Given the description of an element on the screen output the (x, y) to click on. 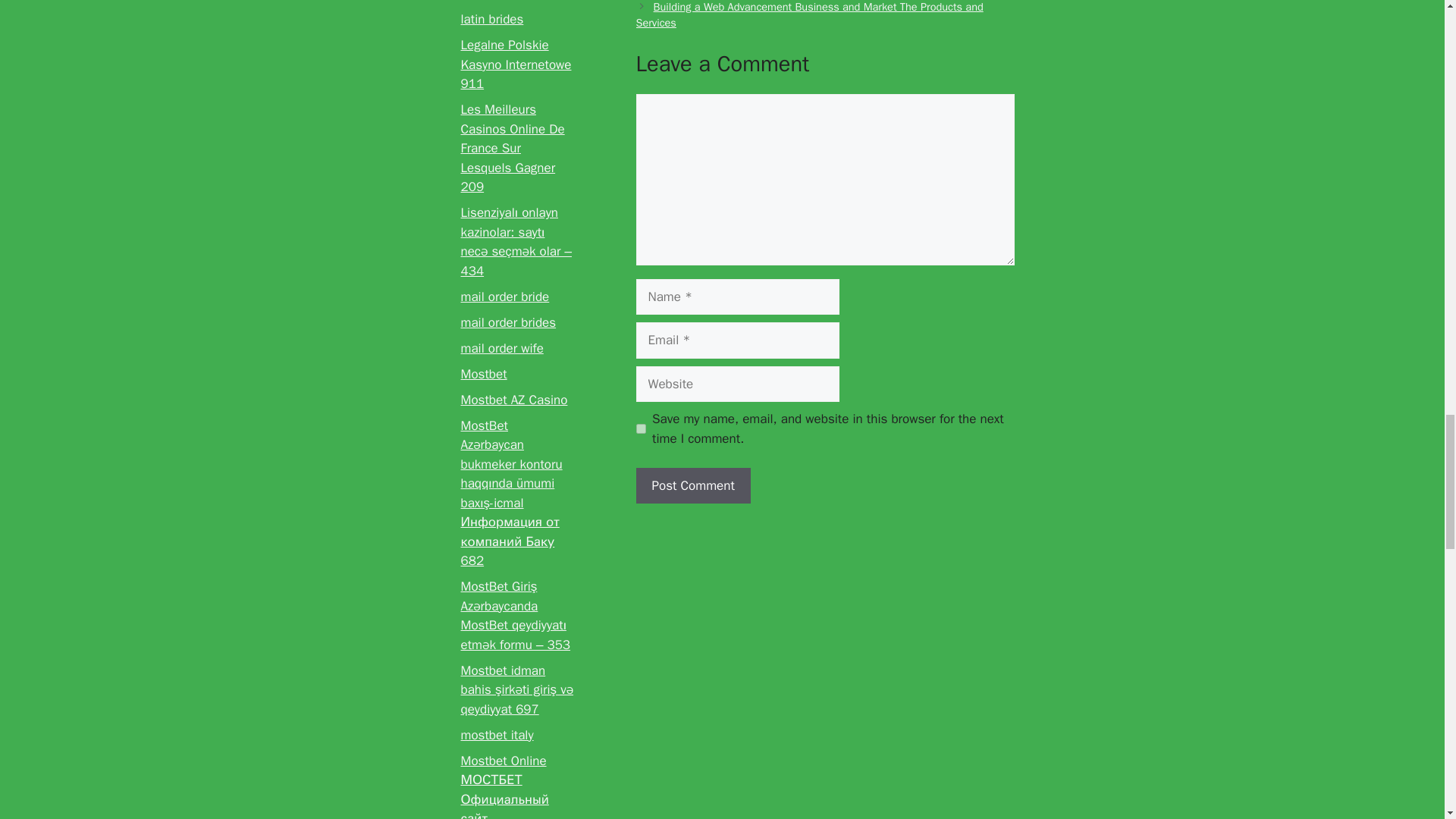
Post Comment (691, 485)
Post Comment (691, 485)
Next (808, 15)
yes (639, 429)
